Given the description of an element on the screen output the (x, y) to click on. 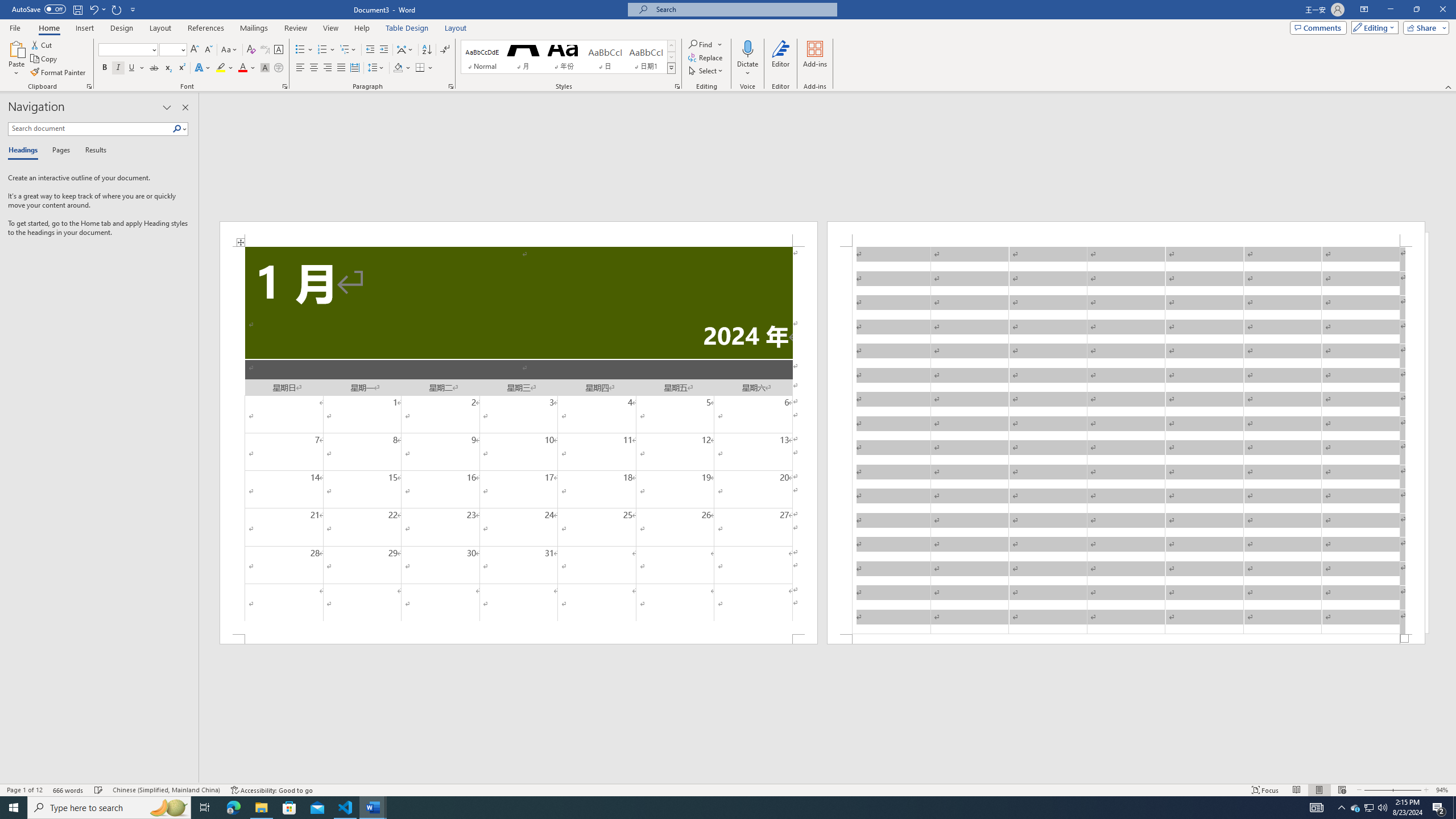
Class: MsoCommandBar (728, 789)
Page 2 content (1126, 439)
Shading RGB(0, 0, 0) (397, 67)
Show/Hide Editing Marks (444, 49)
Align Right (327, 67)
Class: NetUIScrollBar (827, 778)
Character Border (278, 49)
